Given the description of an element on the screen output the (x, y) to click on. 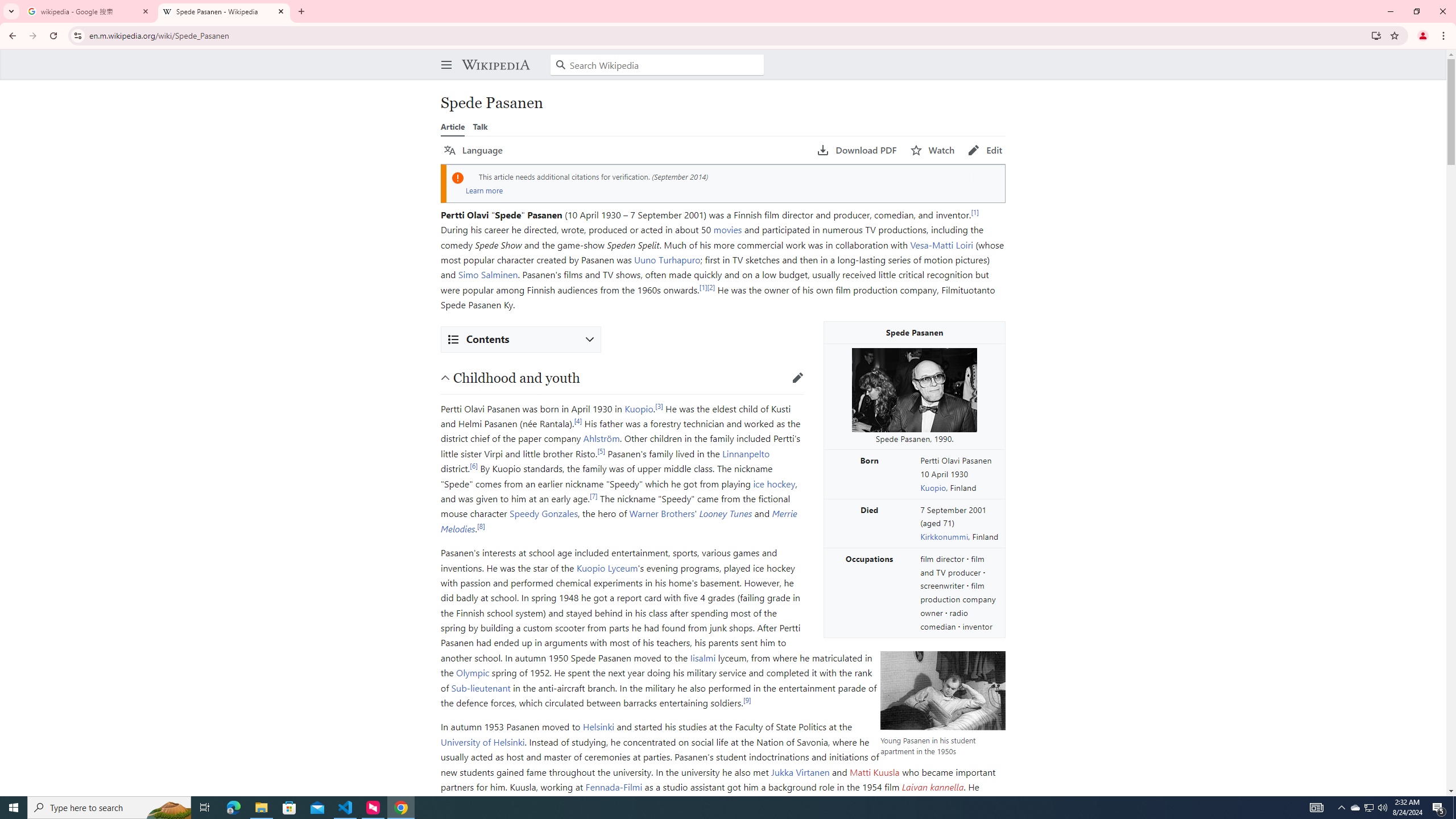
Speedy Gonzales (543, 513)
movies (727, 229)
Search Wikipedia (657, 64)
Looney Tunes (725, 513)
Vesa-Matti Loiri (941, 244)
Install Wikipedia (1376, 35)
Kuopio (638, 408)
Uuno Turhapuro (667, 259)
Matti Kuusla (873, 771)
University of Helsinki (482, 741)
